Given the description of an element on the screen output the (x, y) to click on. 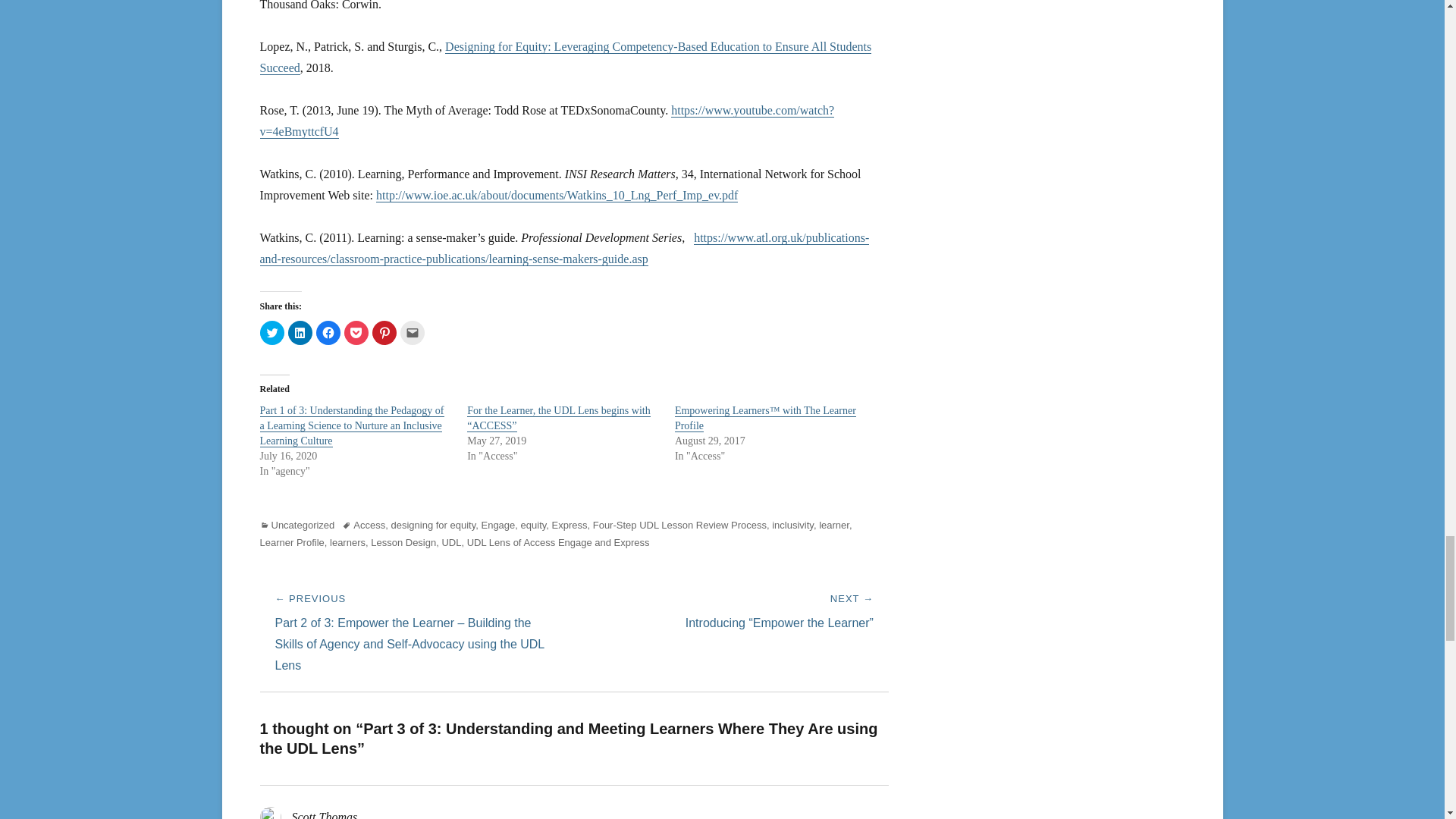
Click to share on Twitter (271, 332)
Click to share on Pocket (355, 332)
Click to email this to a friend (412, 332)
Click to share on Facebook (327, 332)
Click to share on Pinterest (383, 332)
Click to share on LinkedIn (300, 332)
